Given the description of an element on the screen output the (x, y) to click on. 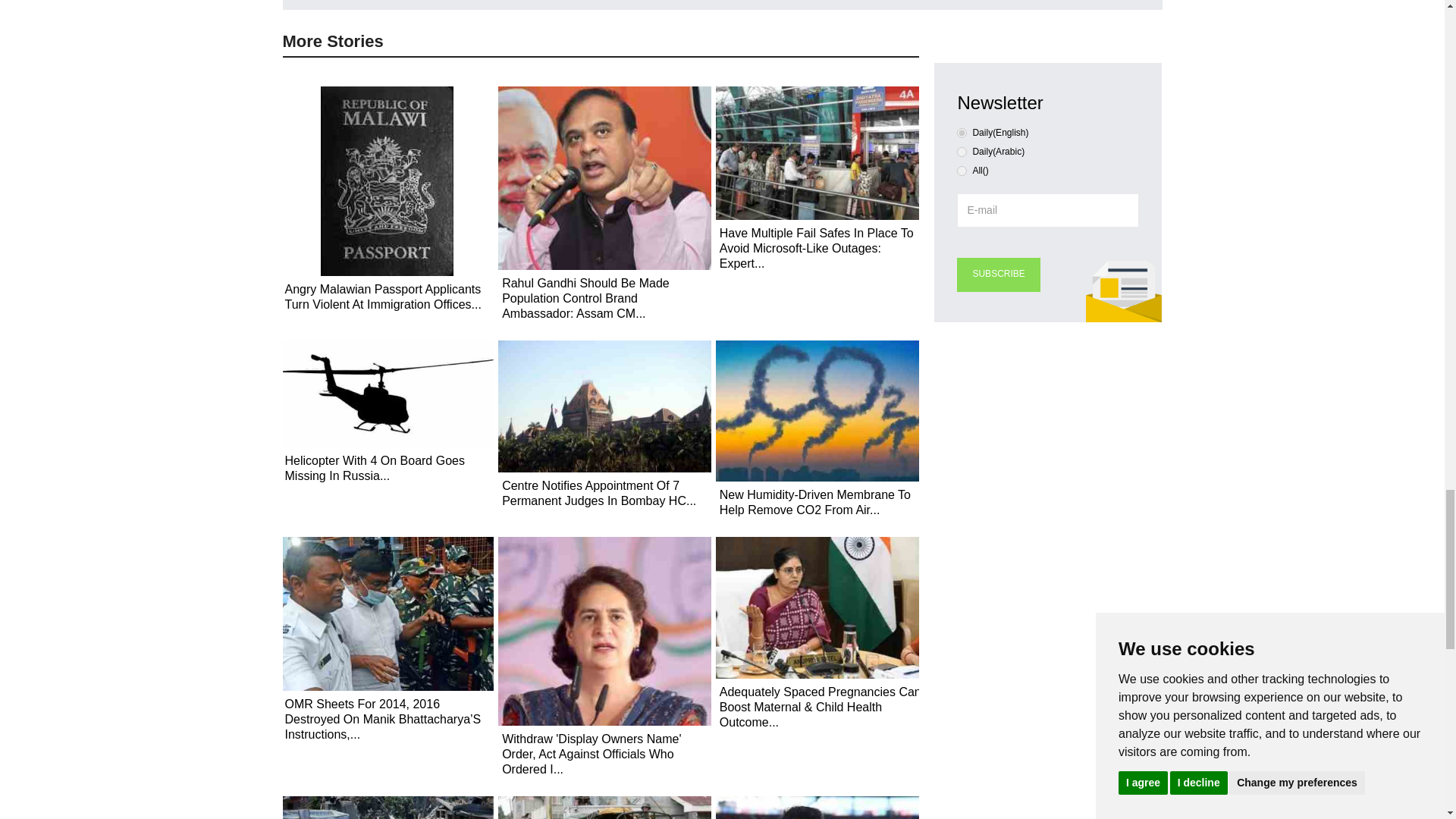
1 (961, 152)
2 (961, 171)
0 (961, 132)
Subscribe (997, 274)
